Given the description of an element on the screen output the (x, y) to click on. 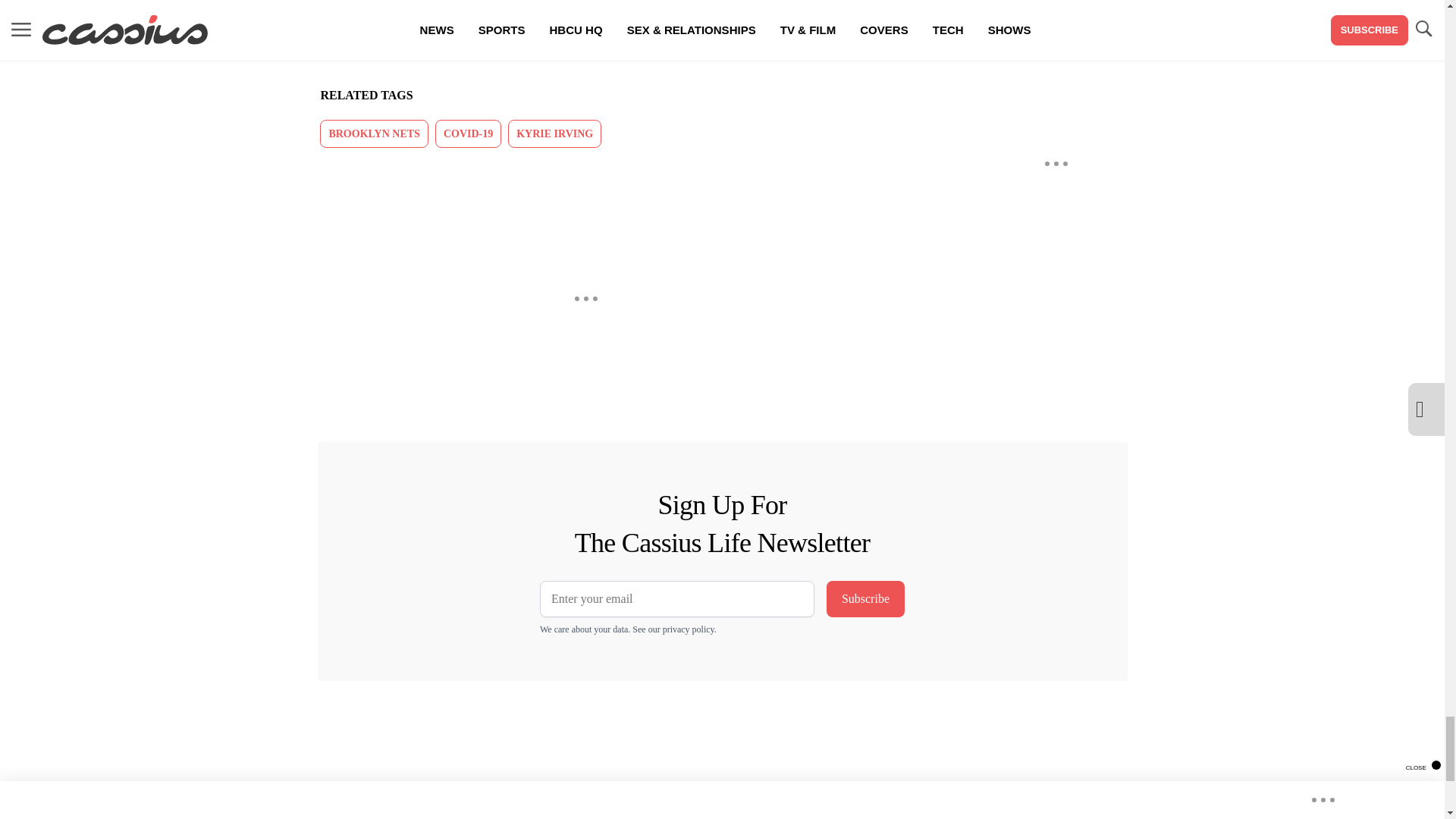
COVID-19 (467, 133)
BROOKLYN NETS (374, 133)
KYRIE IRVING (554, 133)
